Given the description of an element on the screen output the (x, y) to click on. 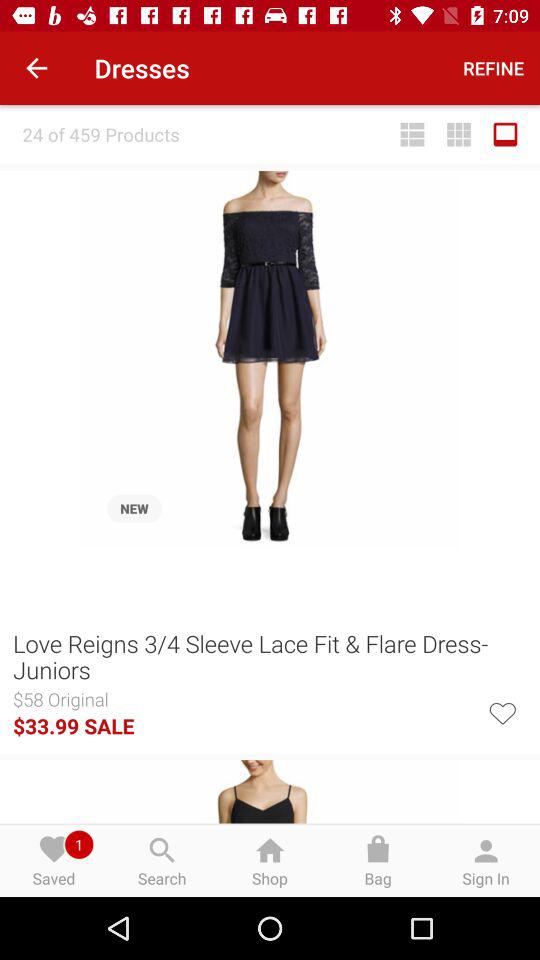
tap the icon to the right of the $33.99 sale icon (501, 711)
